Given the description of an element on the screen output the (x, y) to click on. 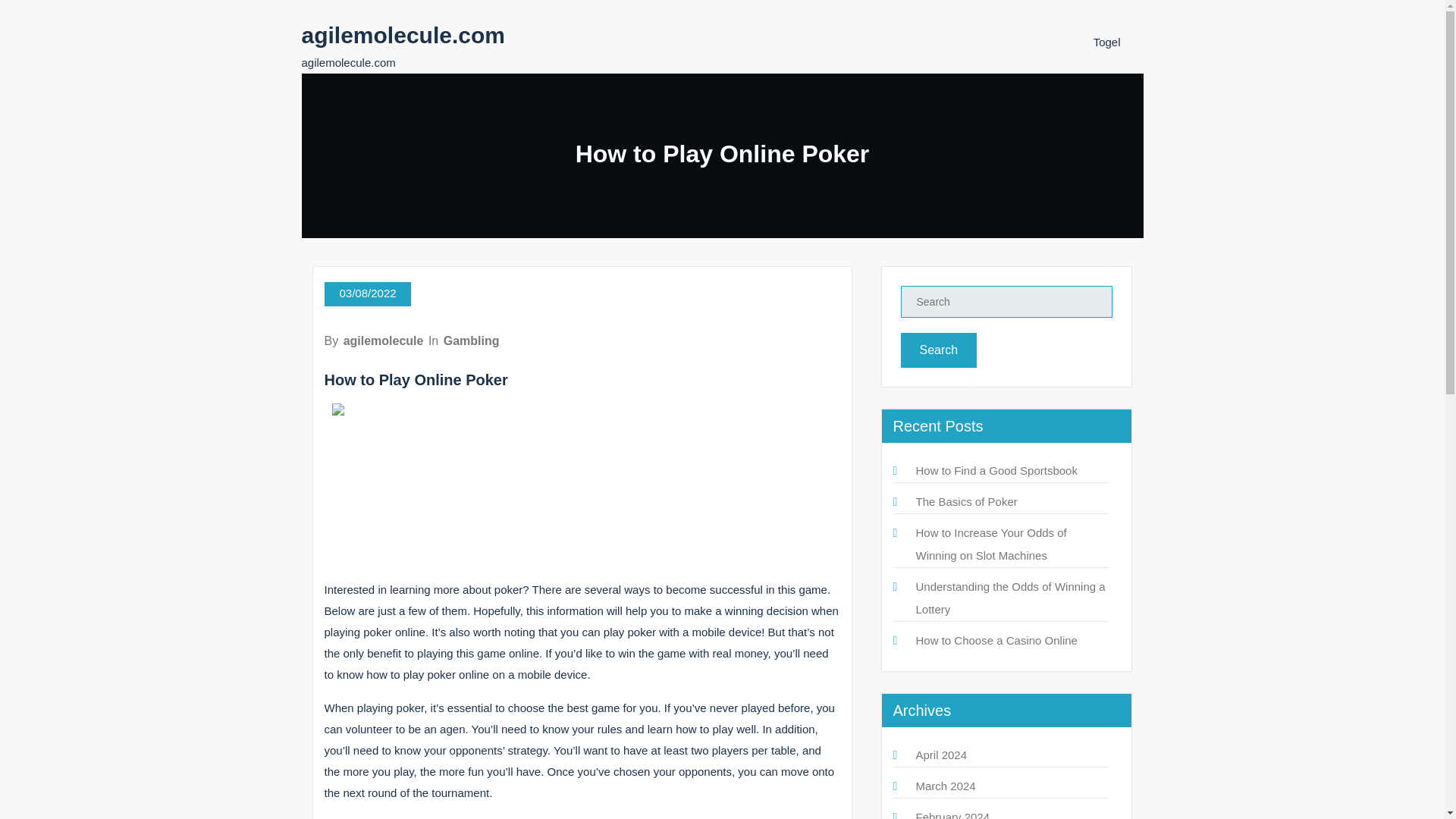
February 2024 (952, 814)
How to Choose a Casino Online (996, 640)
March 2024 (945, 785)
agilemolecule (383, 340)
How to Increase Your Odds of Winning on Slot Machines (991, 543)
How to Find a Good Sportsbook (996, 470)
April 2024 (941, 754)
Understanding the Odds of Winning a Lottery (1010, 597)
The Basics of Poker (966, 501)
Search (938, 349)
agilemolecule.com (403, 34)
Gambling (471, 340)
